Given the description of an element on the screen output the (x, y) to click on. 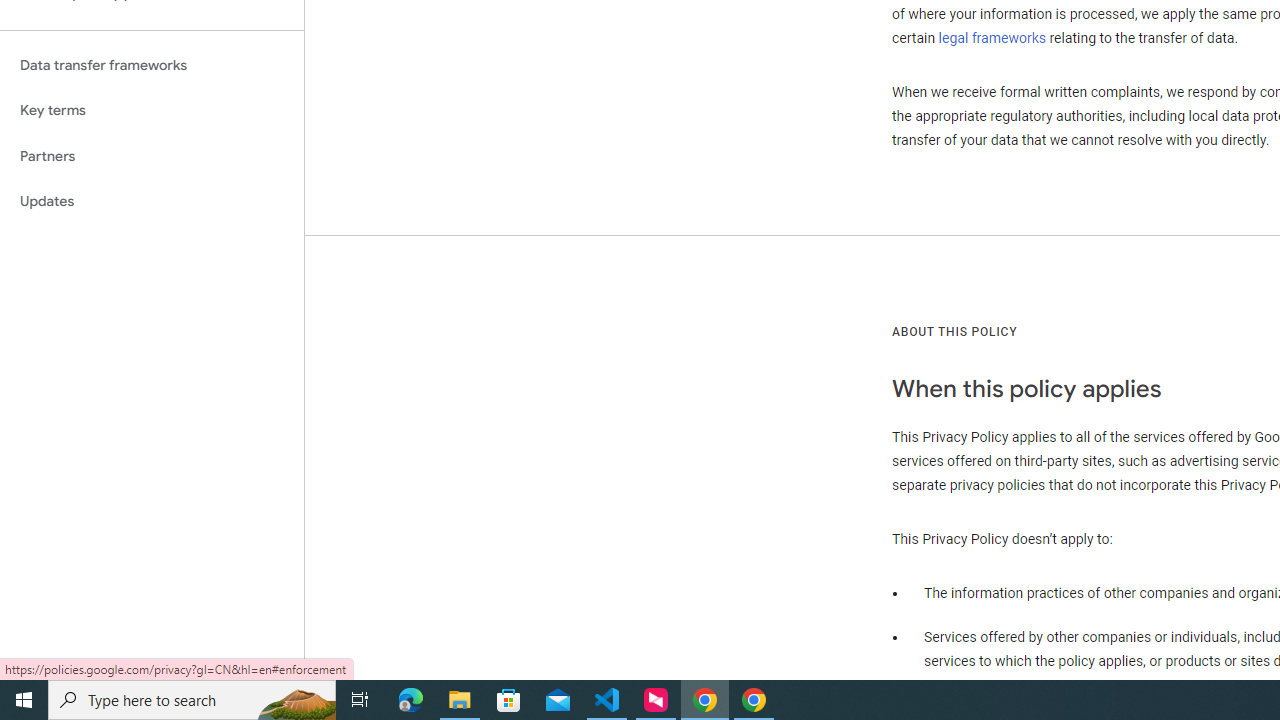
legal frameworks (991, 37)
Key terms (152, 110)
Updates (152, 201)
Partners (152, 156)
Data transfer frameworks (152, 65)
